Given the description of an element on the screen output the (x, y) to click on. 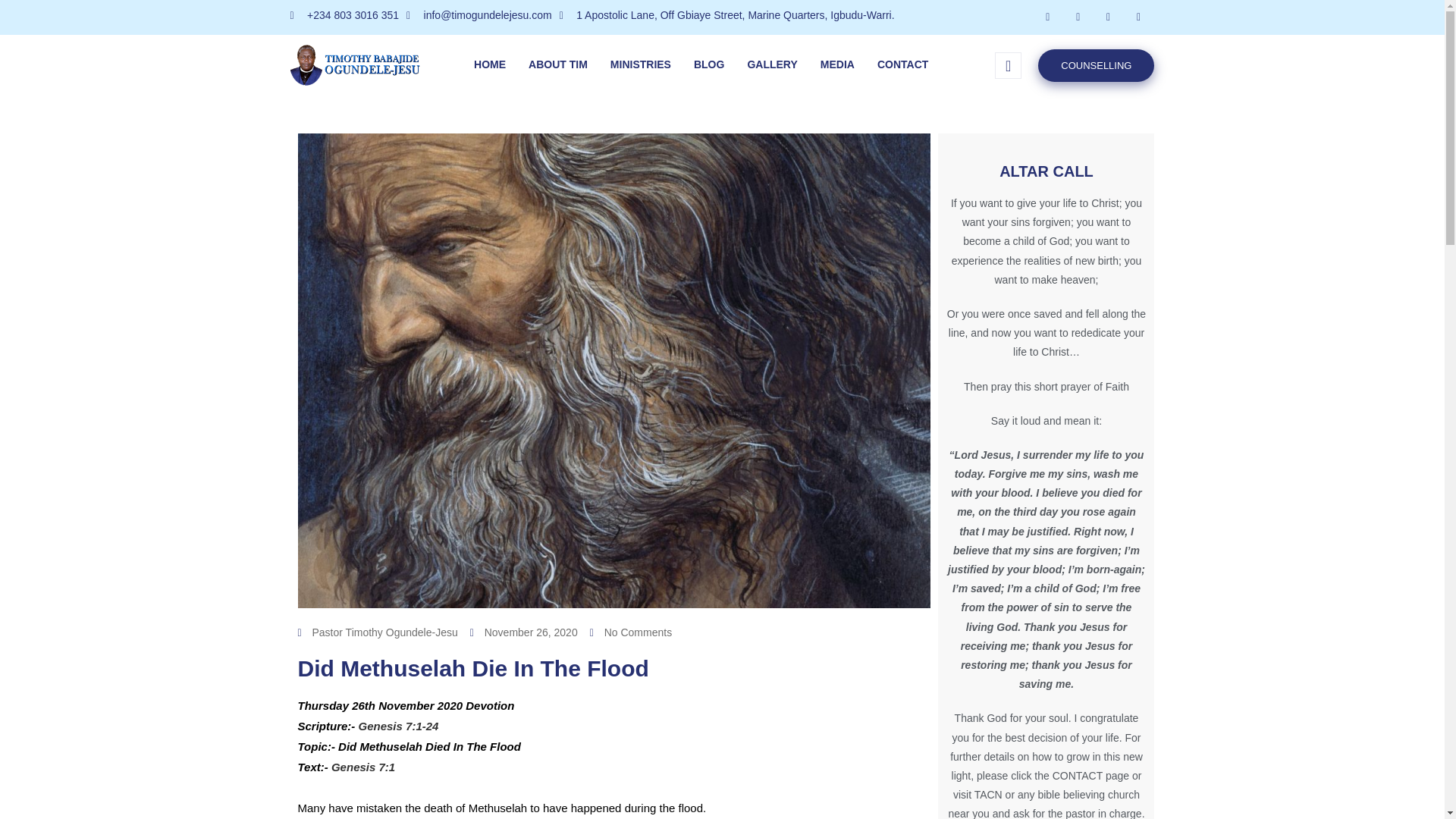
November 26, 2020 (524, 632)
COUNSELLING (1096, 64)
Genesis 7:1 (362, 766)
ABOUT TIM (557, 65)
MEDIA (837, 65)
MINISTRIES (640, 65)
HOME (489, 65)
Genesis 7:1-24 (398, 725)
CONTACT (902, 65)
No Comments (630, 632)
GALLERY (771, 65)
Pastor Timothy Ogundele-Jesu (377, 632)
